Given the description of an element on the screen output the (x, y) to click on. 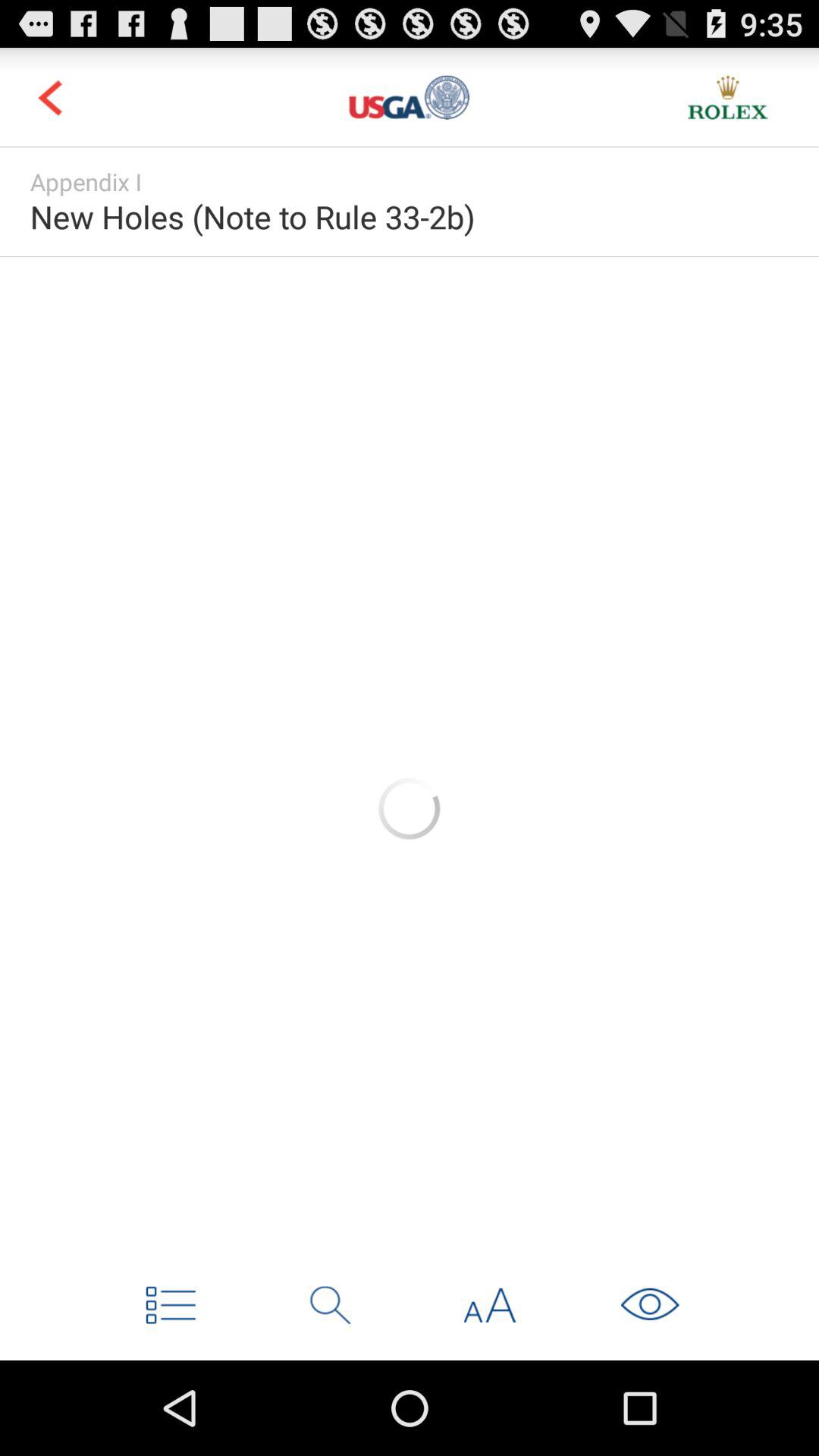
previous (49, 97)
